Given the description of an element on the screen output the (x, y) to click on. 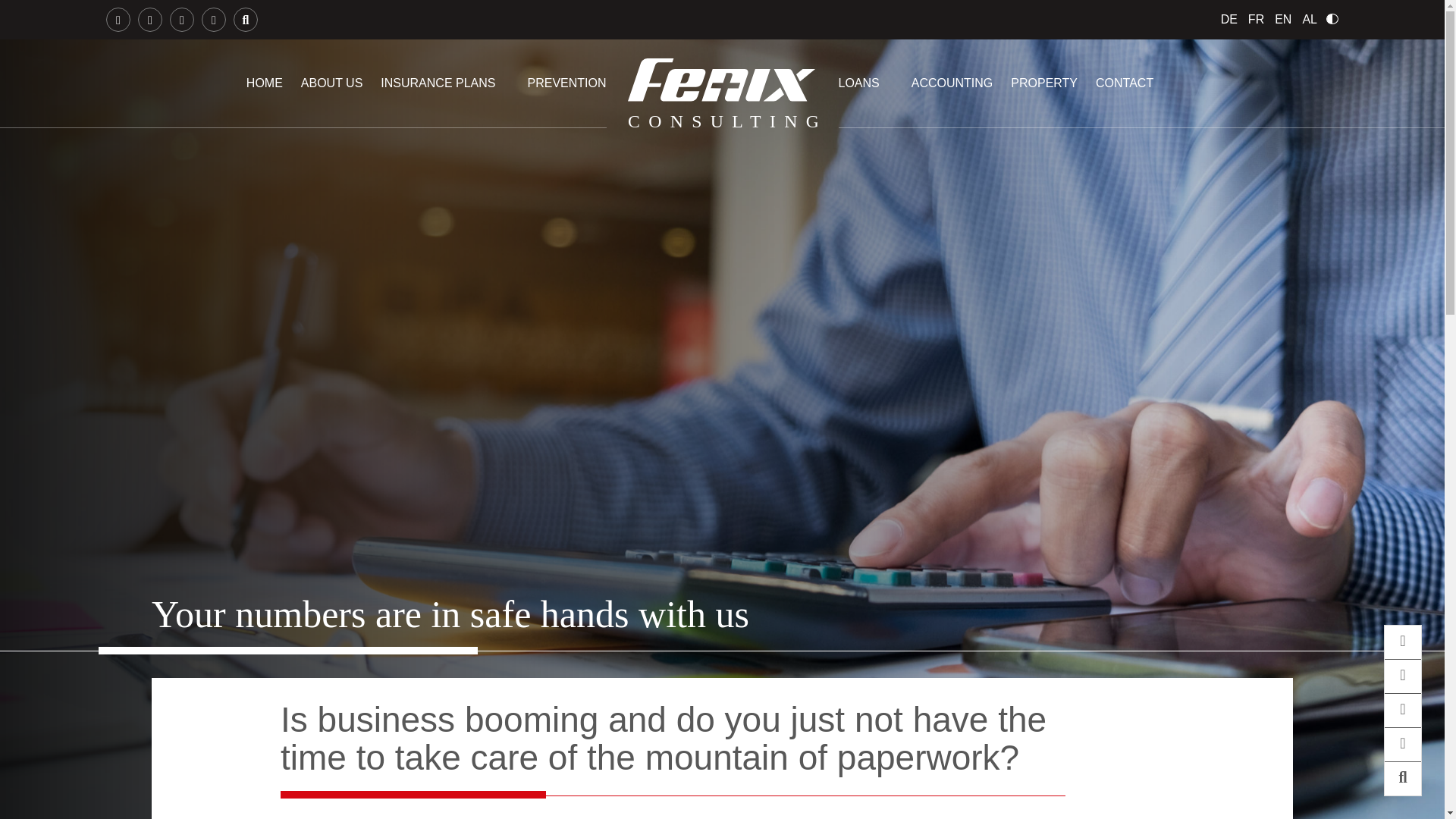
Deutsch (1229, 19)
FR (1256, 19)
PREVENTION (566, 83)
ACCOUNTING (951, 83)
English (1283, 19)
AL (1309, 19)
EN (1283, 19)
Albanian (1309, 19)
INSURANCE PLANS (437, 83)
CONSULTING (721, 75)
CONSULTING (721, 95)
DE (1229, 19)
